Given the description of an element on the screen output the (x, y) to click on. 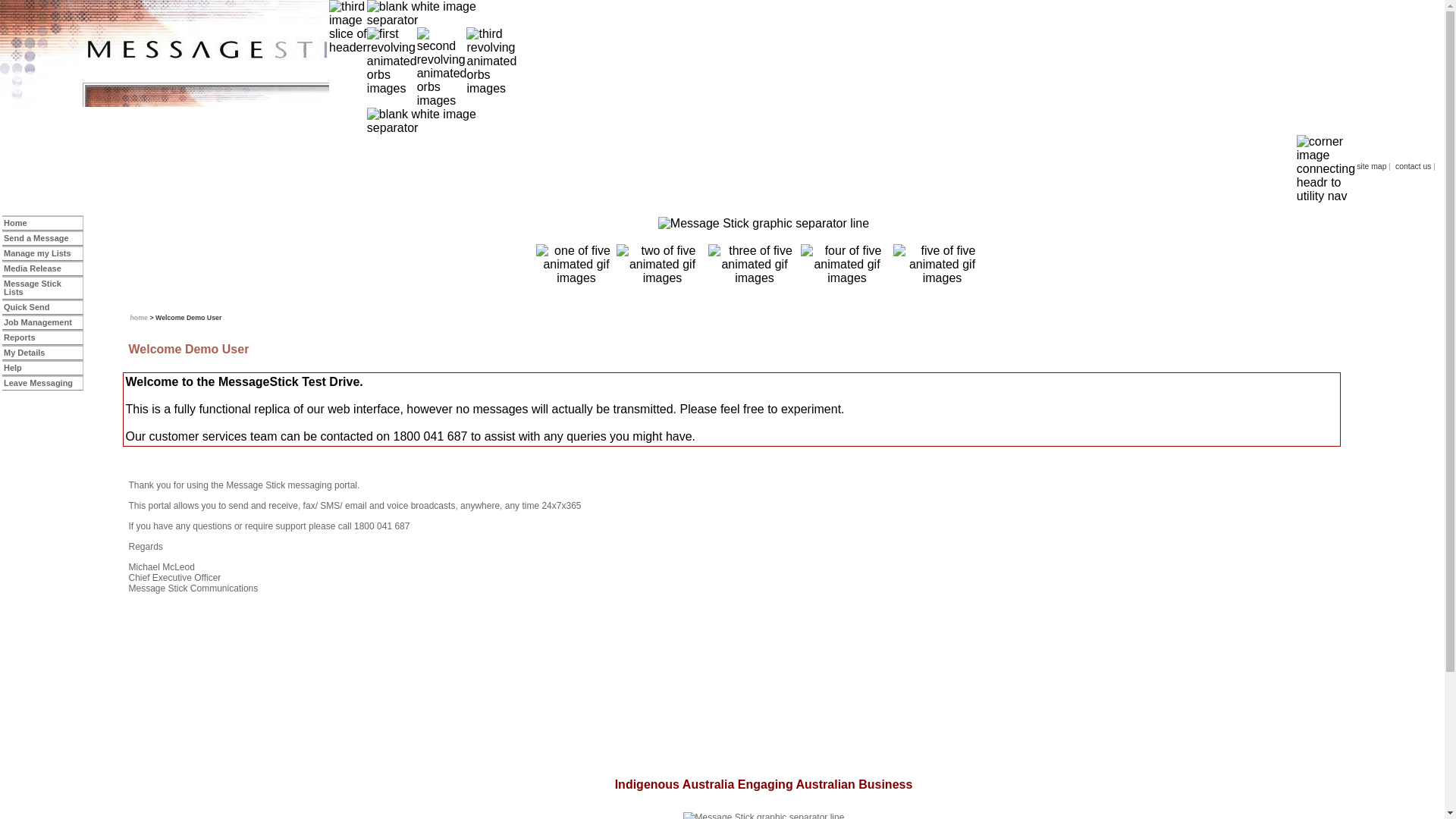
site map Element type: text (1371, 166)
Quick Send Element type: text (42, 307)
Media Release Element type: text (42, 268)
home Element type: text (138, 317)
Welcome to Message Stick Communications Element type: hover (763, 223)
Message Stick Communications Element type: hover (442, 67)
Message Stick Communications Element type: hover (44, 53)
Message Stick Communications Element type: hover (441, 120)
Message Stick Communications Element type: hover (392, 61)
Message Stick Communications Element type: hover (942, 264)
contact us Element type: text (1412, 166)
Message Stick Communications Element type: hover (1325, 168)
Home Element type: text (42, 223)
Message Stick Communications Element type: hover (812, 168)
Message Stick Communications Element type: hover (441, 13)
Leave Messaging Element type: text (42, 383)
Message Stick Communications Element type: hover (576, 264)
Message Stick Communications Element type: hover (846, 264)
Manage my Lists Element type: text (42, 253)
Message Stick Communications Element type: hover (662, 264)
My Details Element type: text (42, 352)
Help Element type: text (42, 368)
Message Stick Communications Element type: hover (208, 53)
Message Stick Communications Element type: hover (348, 27)
Message Stick Communications Element type: hover (491, 61)
Reports Element type: text (42, 337)
Job Management Element type: text (42, 322)
Message Stick Lists Element type: text (42, 287)
Send a Message Element type: text (42, 238)
Message Stick Communications Element type: hover (754, 264)
